Given the description of an element on the screen output the (x, y) to click on. 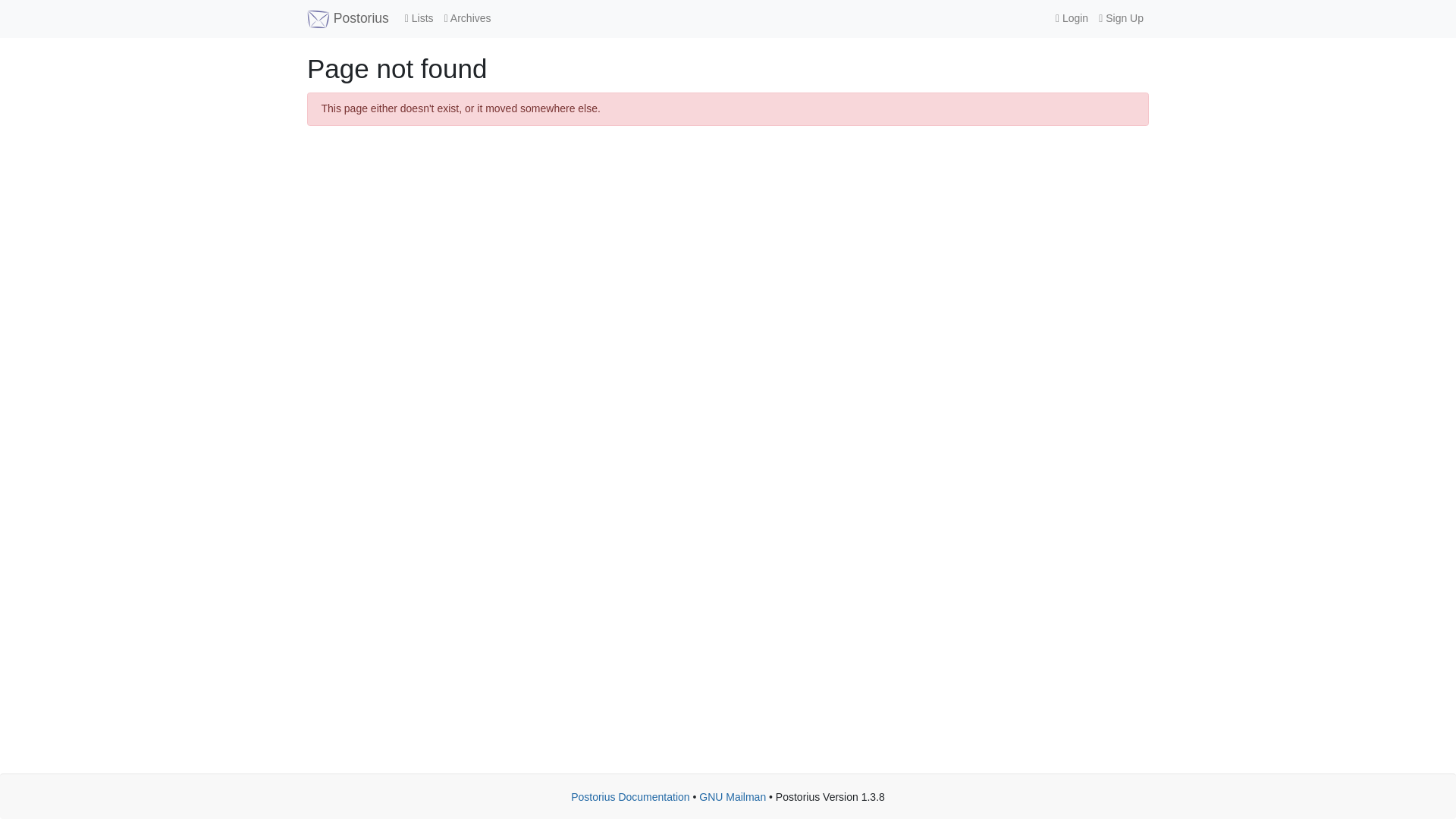
Archives (467, 17)
Sign Up (1120, 17)
Postorius (347, 18)
Lists (418, 17)
Login (1071, 17)
